Given the description of an element on the screen output the (x, y) to click on. 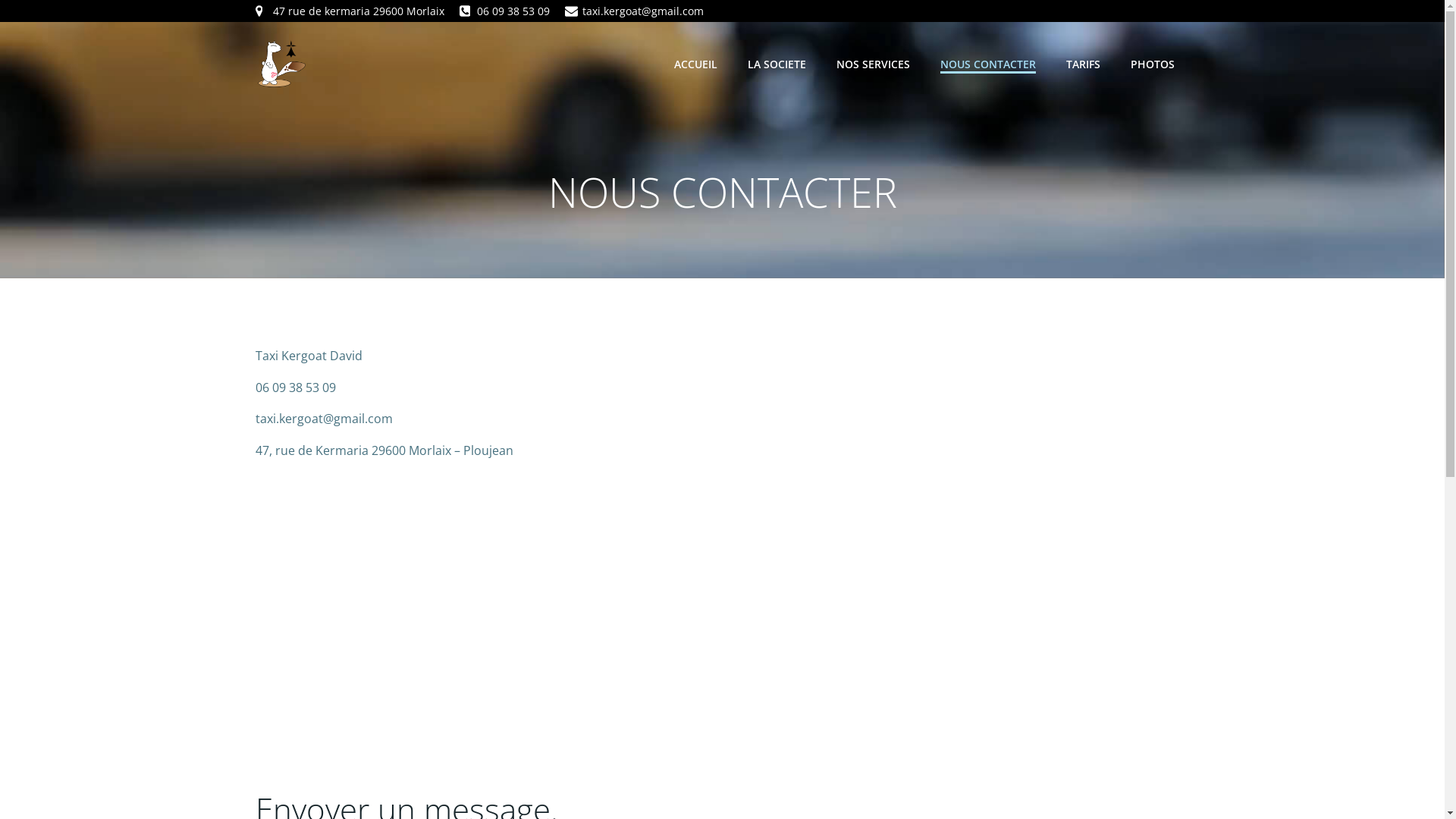
LA SOCIETE Element type: text (776, 64)
TARIFS Element type: text (1083, 64)
ACCUEIL Element type: text (694, 64)
47 rue de kermaria 29600 Morlaix Element type: text (348, 10)
PHOTOS Element type: text (1151, 64)
Colibri Element type: text (891, 773)
NOUS CONTACTER Element type: text (987, 64)
taxi.kergoat@gmail.com Element type: text (633, 10)
NOS SERVICES Element type: text (872, 64)
06 09 38 53 09 Element type: text (504, 10)
